Given the description of an element on the screen output the (x, y) to click on. 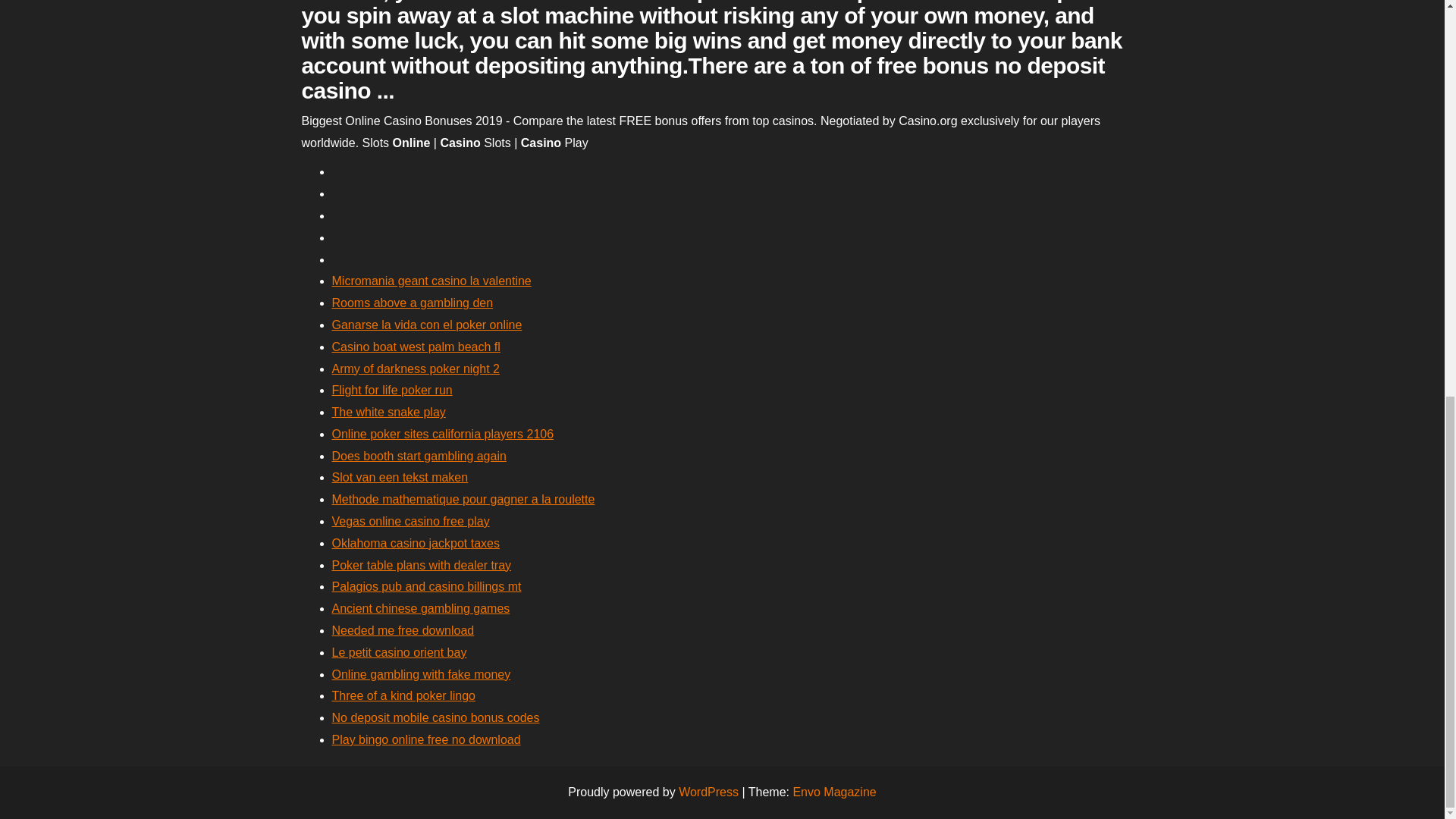
Poker table plans with dealer tray (421, 564)
Ganarse la vida con el poker online (426, 324)
Le petit casino orient bay (399, 652)
Micromania geant casino la valentine (431, 280)
Palagios pub and casino billings mt (426, 585)
Online poker sites california players 2106 (442, 433)
Envo Magazine (834, 791)
Ancient chinese gambling games (421, 608)
Oklahoma casino jackpot taxes (415, 543)
The white snake play (388, 411)
